Given the description of an element on the screen output the (x, y) to click on. 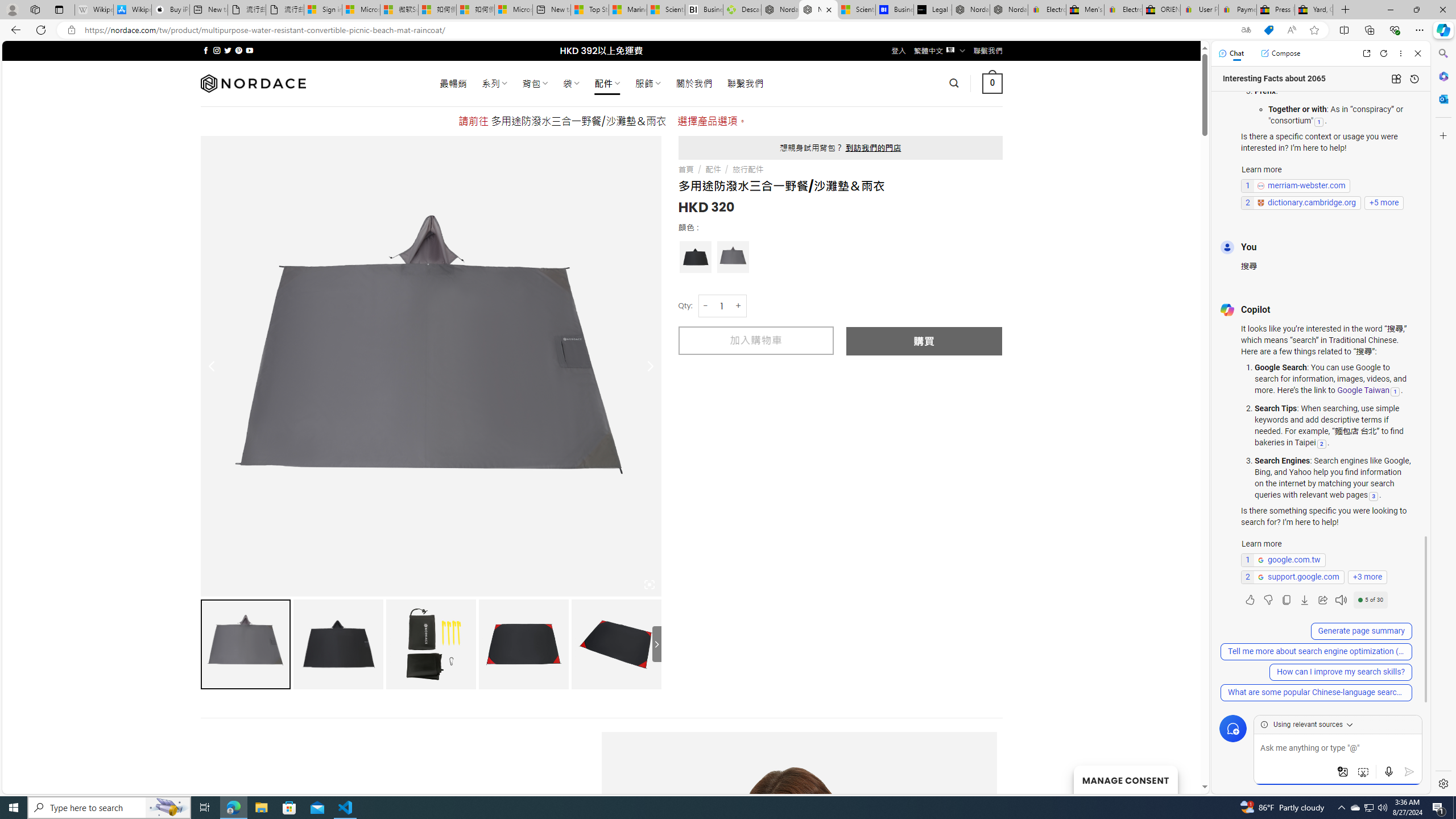
Top Stories - MSN (589, 9)
- (705, 305)
Sign in to your Microsoft account (322, 9)
